Given the description of an element on the screen output the (x, y) to click on. 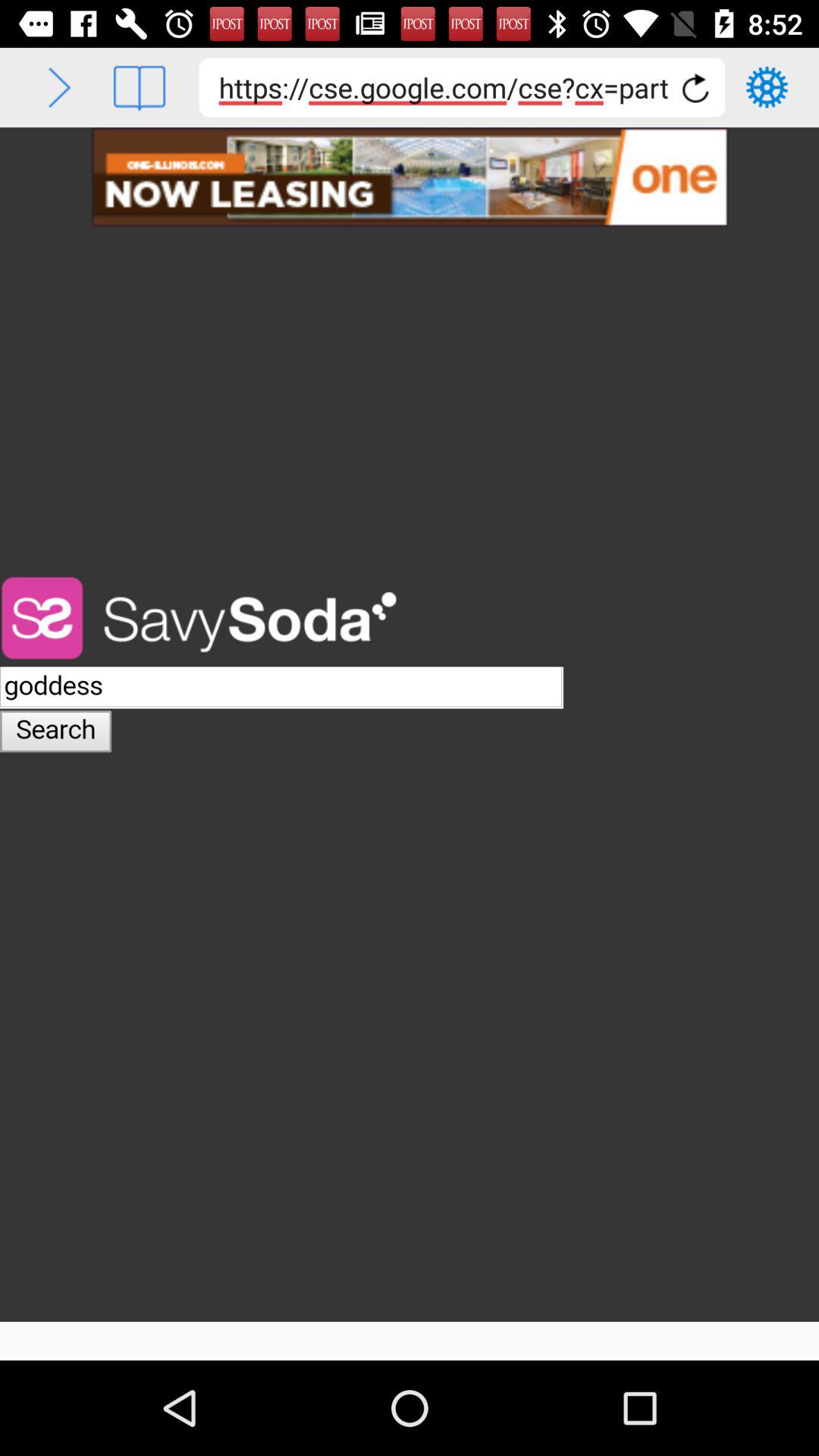
go to next (59, 87)
